Given the description of an element on the screen output the (x, y) to click on. 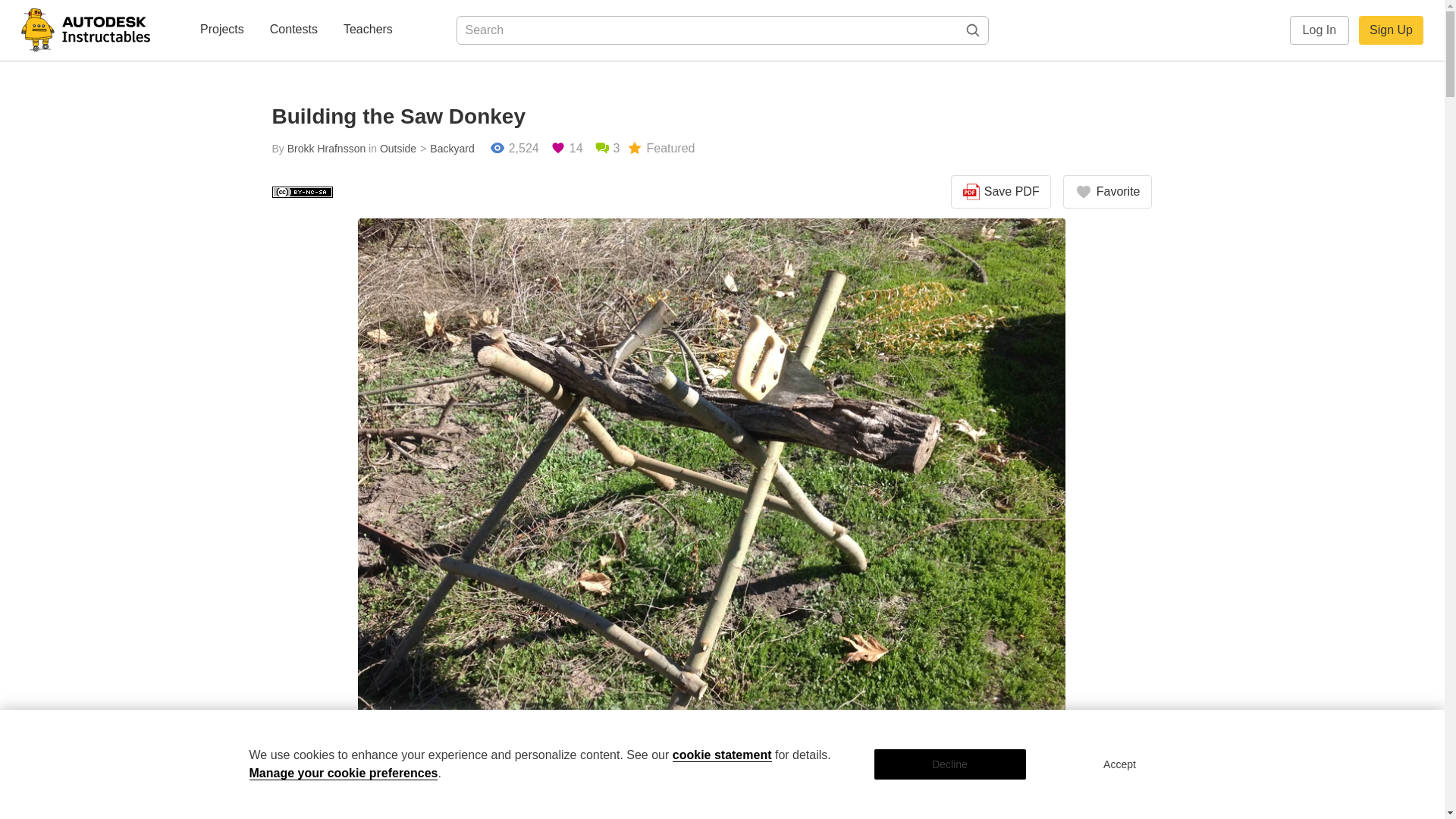
Teachers (368, 30)
Follow (520, 811)
Outside (398, 148)
Contests (293, 30)
3 (607, 148)
Brokk Hrafnsson (555, 789)
Log In (1319, 30)
Brokk Hrafnsson (325, 148)
Save PDF (1000, 191)
Projects (221, 30)
